Given the description of an element on the screen output the (x, y) to click on. 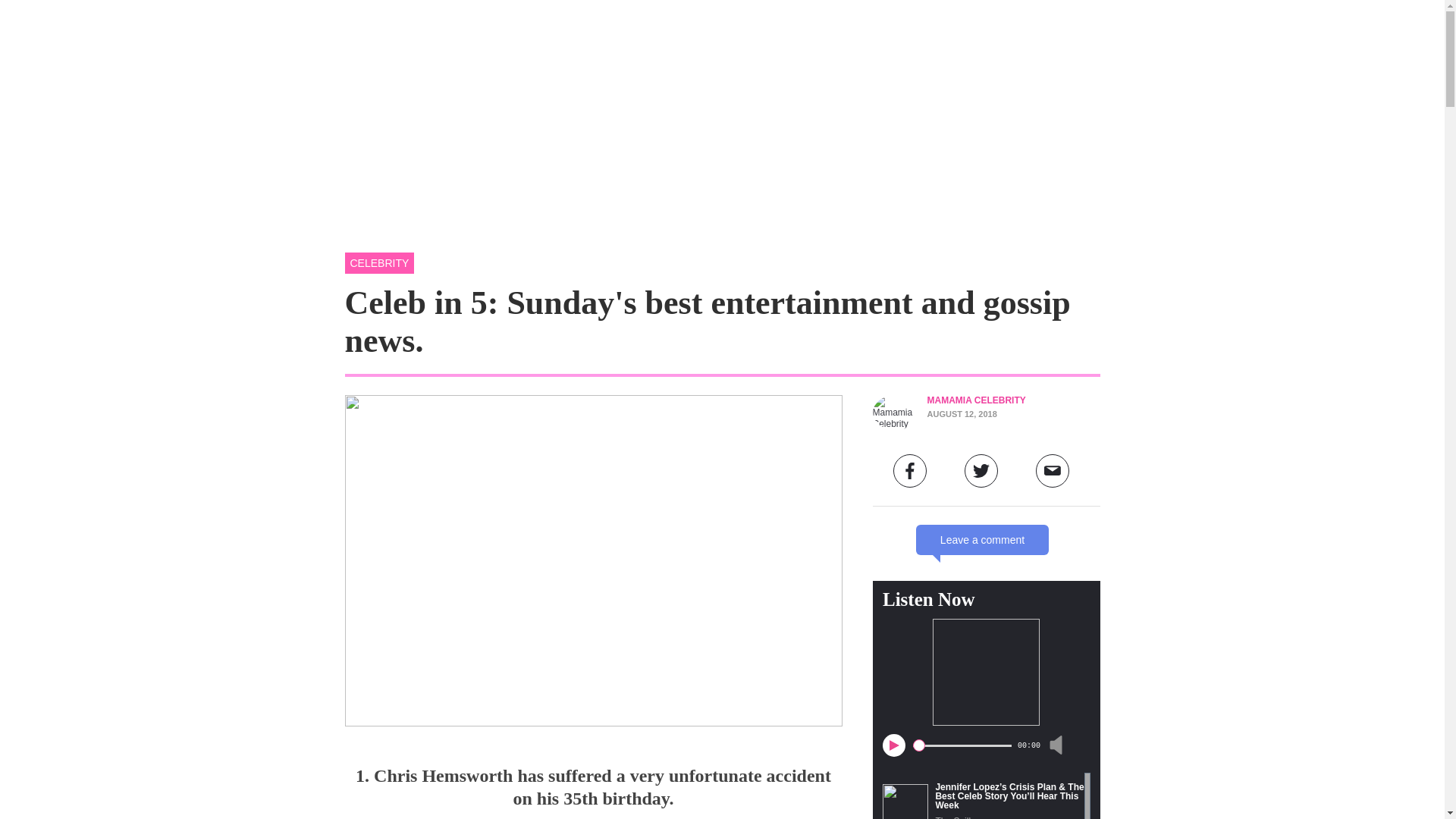
Share via e-mail (1051, 470)
0 (961, 745)
MAMAMIA CELEBRITY (975, 399)
Share via twitter (980, 470)
CELEBRITY (378, 262)
Listen Now (928, 598)
Share via facebook (909, 470)
